Given the description of an element on the screen output the (x, y) to click on. 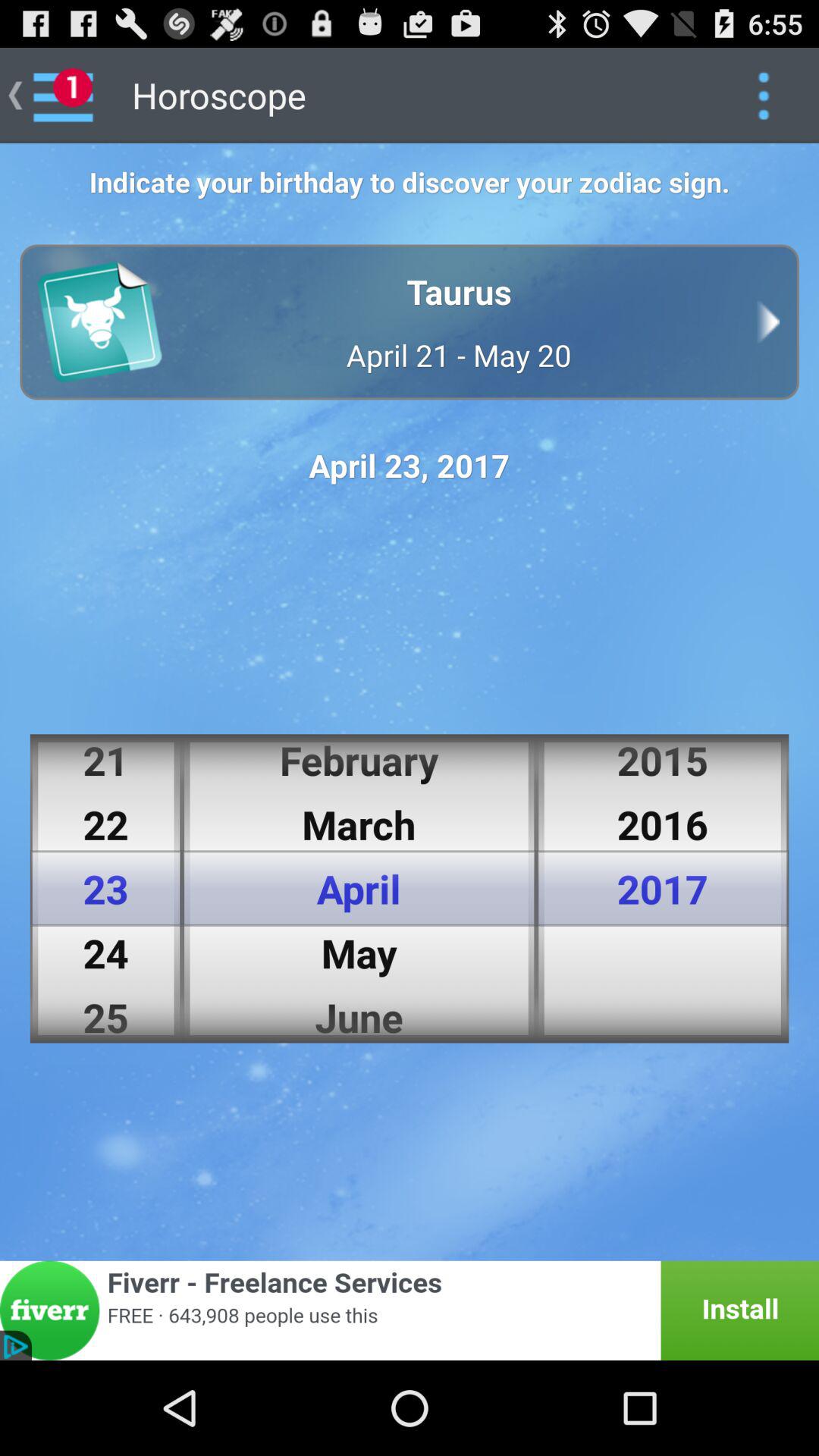
open menu options (763, 95)
